Given the description of an element on the screen output the (x, y) to click on. 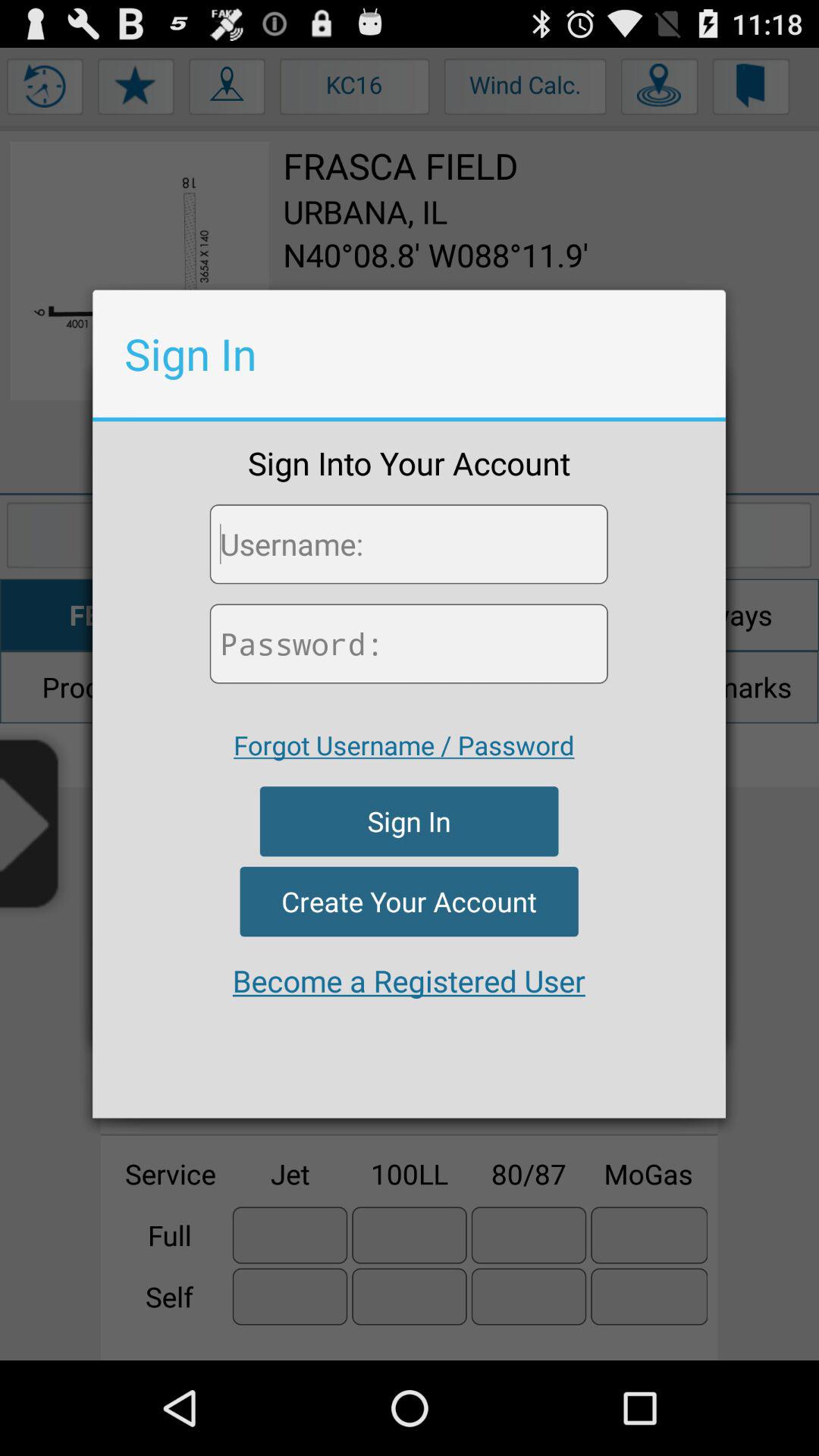
username (408, 544)
